Given the description of an element on the screen output the (x, y) to click on. 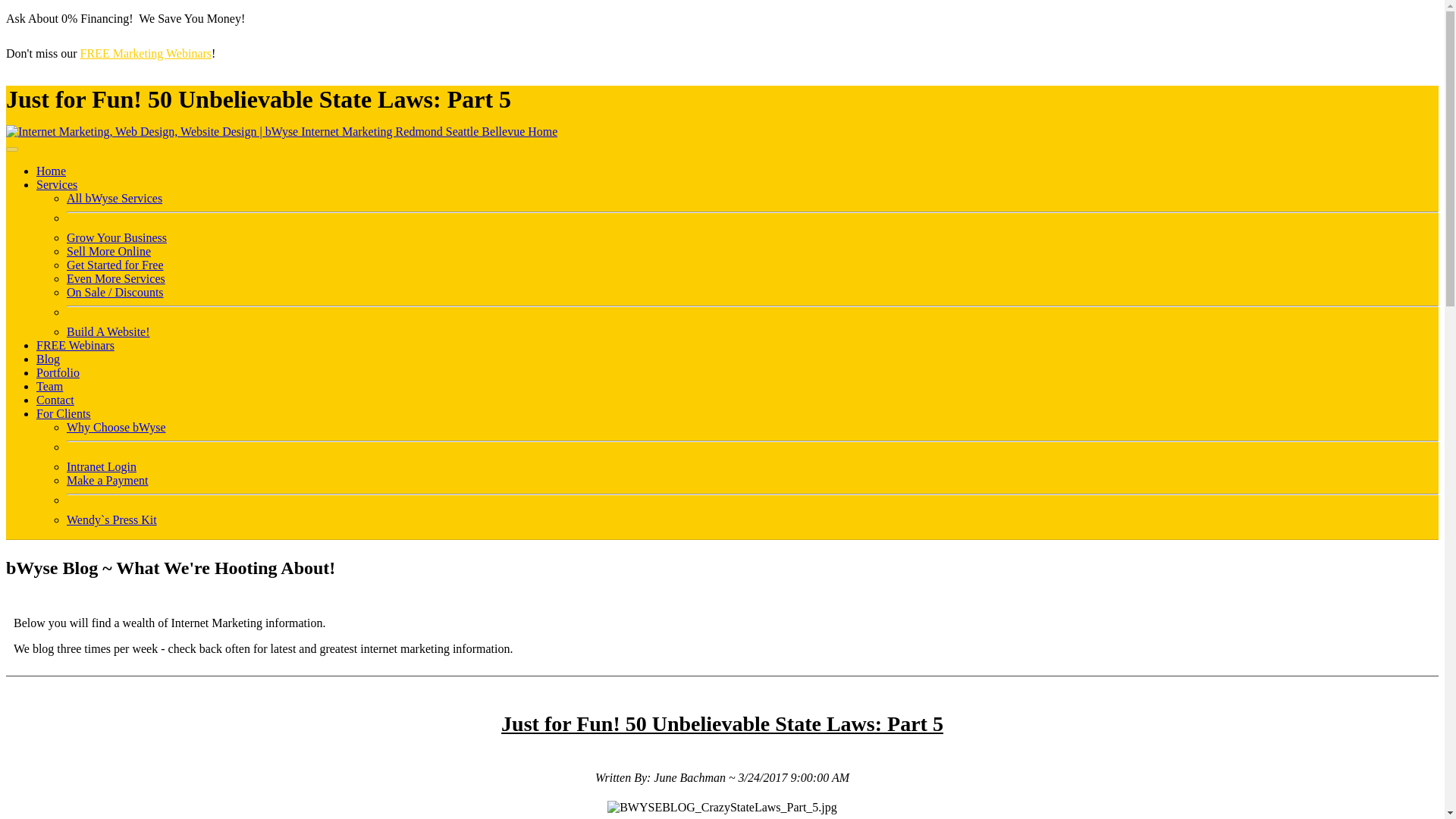
For Clients (63, 413)
Services (56, 184)
Free Marketing Webinars (146, 52)
Team (49, 386)
Make a Payment (107, 480)
Why Choose bWyse (115, 427)
Home (50, 170)
Grow Your Business (116, 237)
Build A Website! (107, 331)
Sell More Online (108, 250)
Blog (47, 358)
Even More Services (115, 278)
FREE Marketing Webinars (146, 52)
All bWyse Services (113, 197)
Portfolio (58, 372)
